Given the description of an element on the screen output the (x, y) to click on. 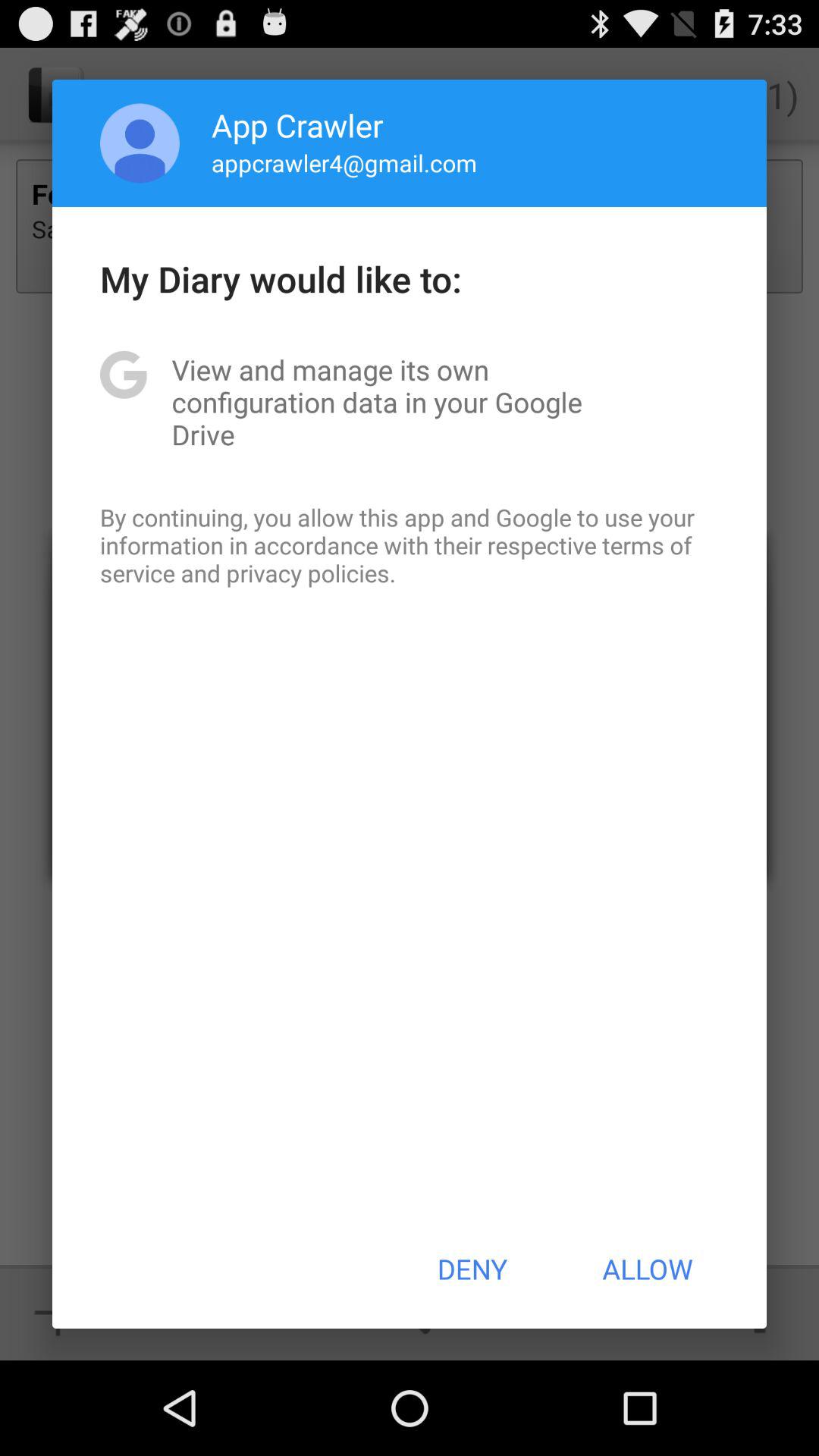
press app below the my diary would (409, 401)
